Given the description of an element on the screen output the (x, y) to click on. 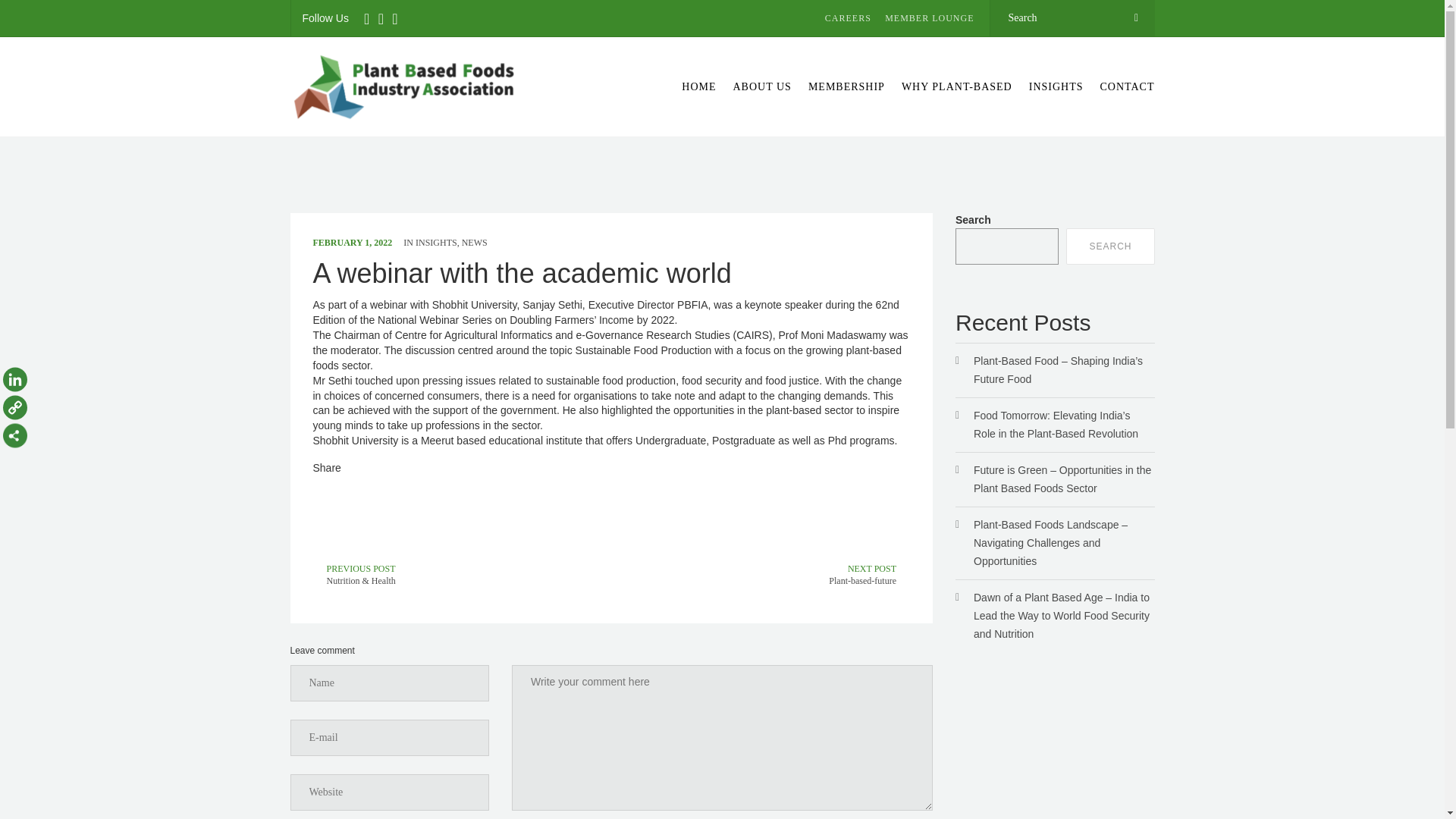
MEMBER LOUNGE (933, 18)
SEARCH (1109, 246)
LinkedIn (15, 380)
ABOUT US (762, 86)
CAREERS (853, 18)
MEMBERSHIP (772, 573)
LinkedIn (846, 86)
INSIGHTS (15, 380)
CONTACT (435, 242)
HOME (1123, 86)
WHY PLANT-BASED (697, 86)
INSIGHTS (956, 86)
NEWS (1056, 86)
Copy Link (474, 242)
